Given the description of an element on the screen output the (x, y) to click on. 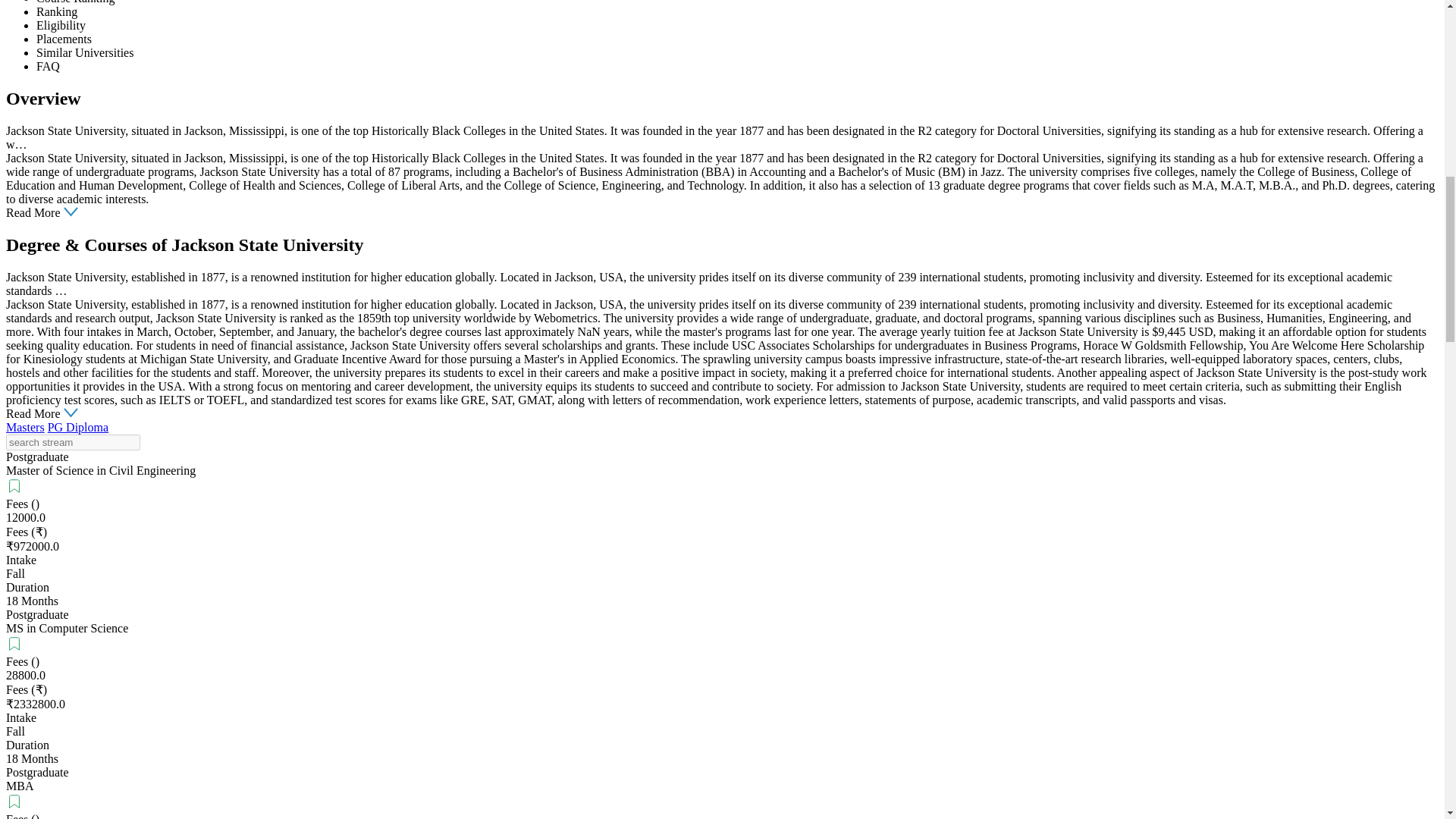
972000.0 (36, 545)
2332800.0 (39, 703)
28800.0 (25, 675)
12000.0 (25, 517)
